Given the description of an element on the screen output the (x, y) to click on. 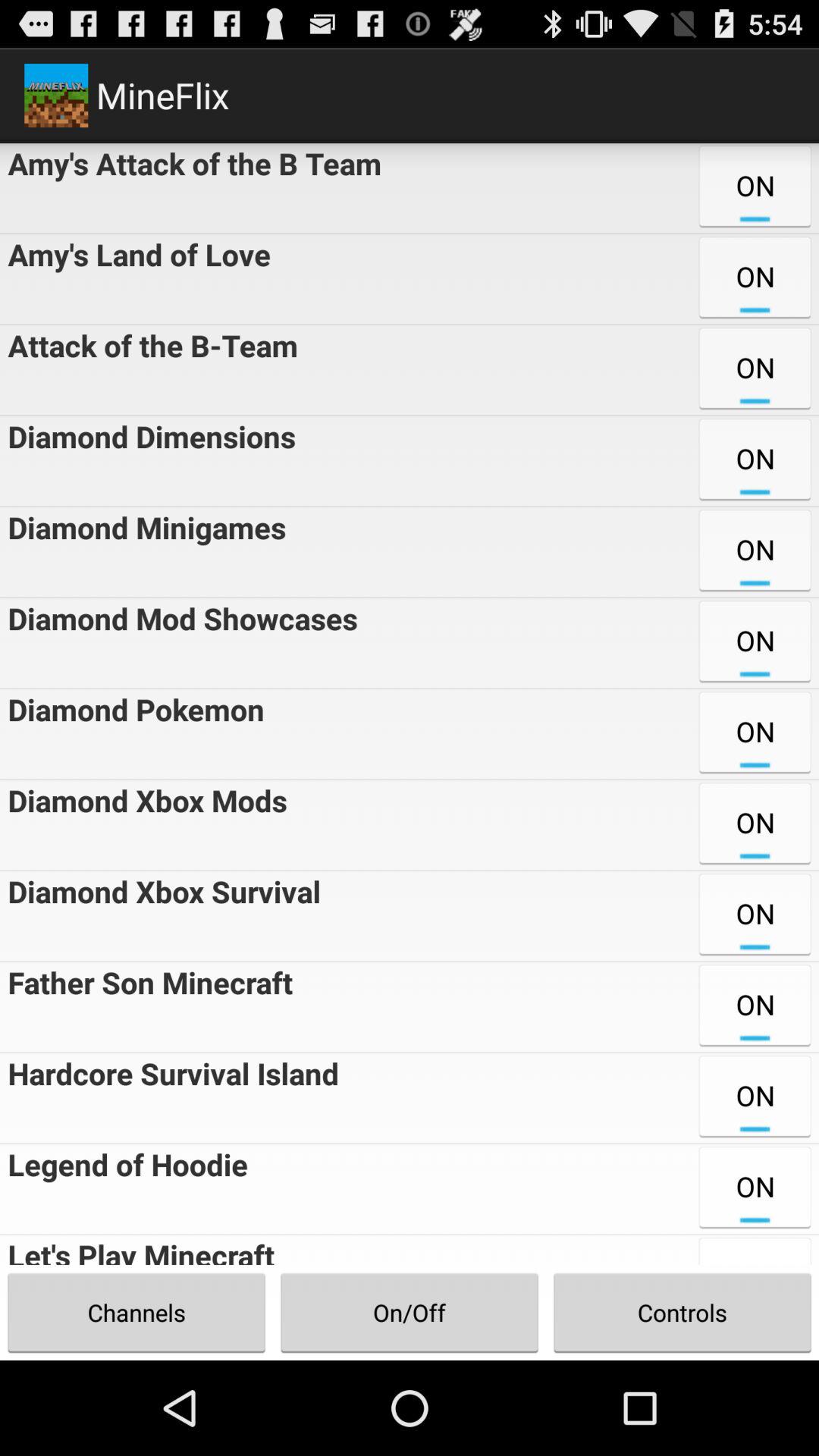
choose diamond minigames icon (143, 552)
